Given the description of an element on the screen output the (x, y) to click on. 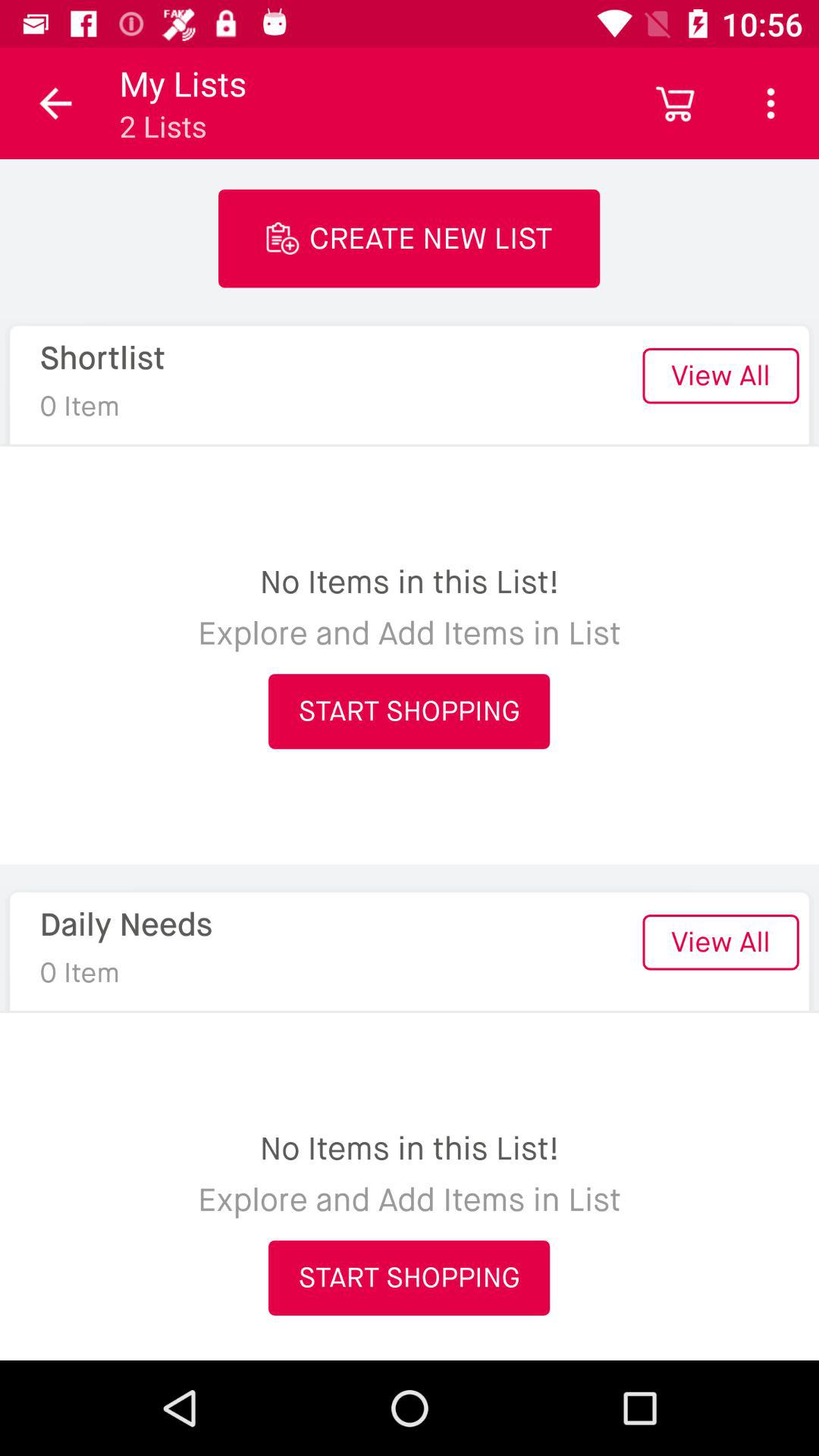
turn off the item next to the my lists (55, 103)
